Given the description of an element on the screen output the (x, y) to click on. 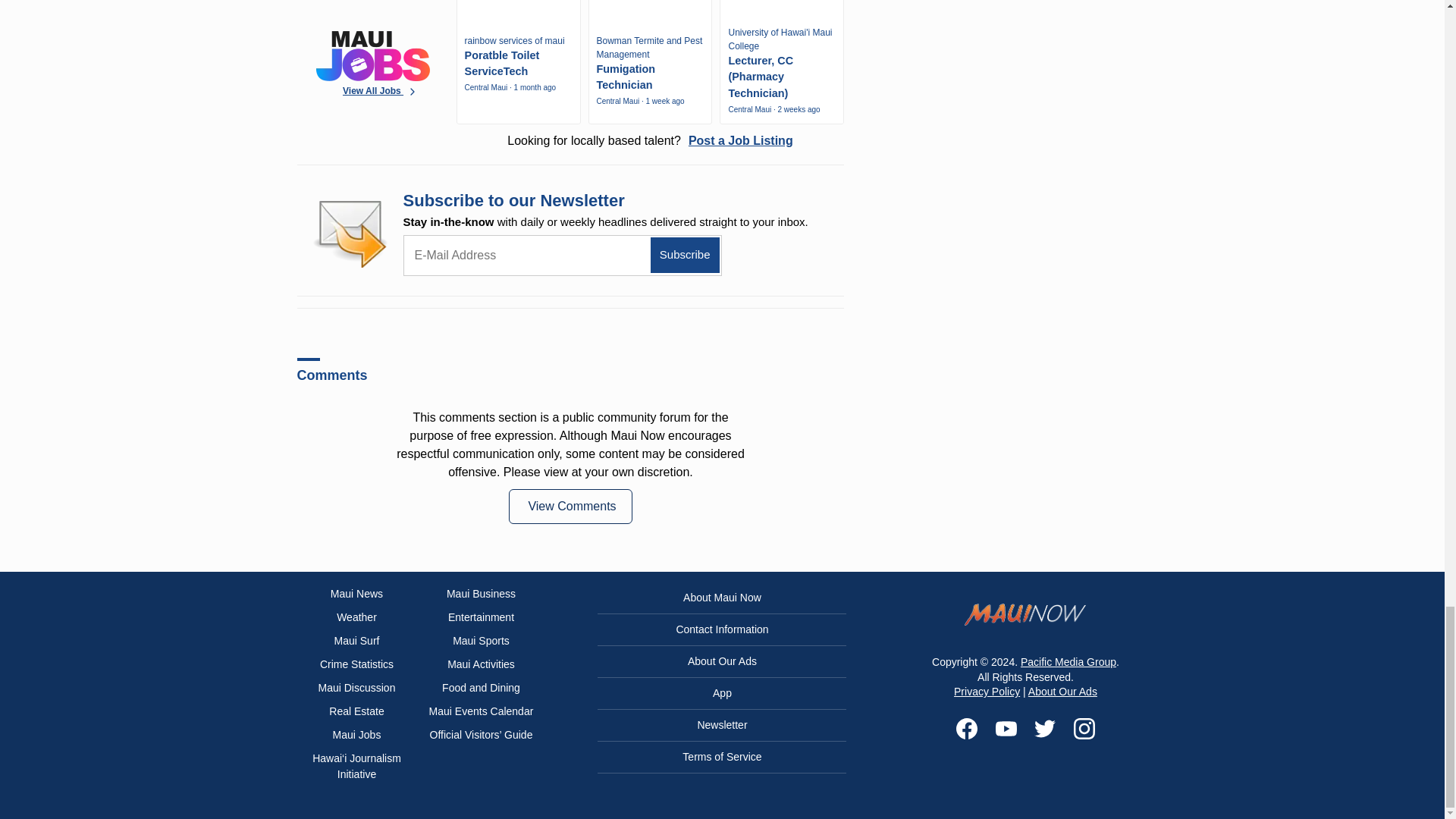
Chevron Forward (412, 91)
YouTube (1005, 728)
Instagram (1084, 728)
Facebook (966, 728)
Twitter (1044, 728)
Subscribe (684, 254)
